Given the description of an element on the screen output the (x, y) to click on. 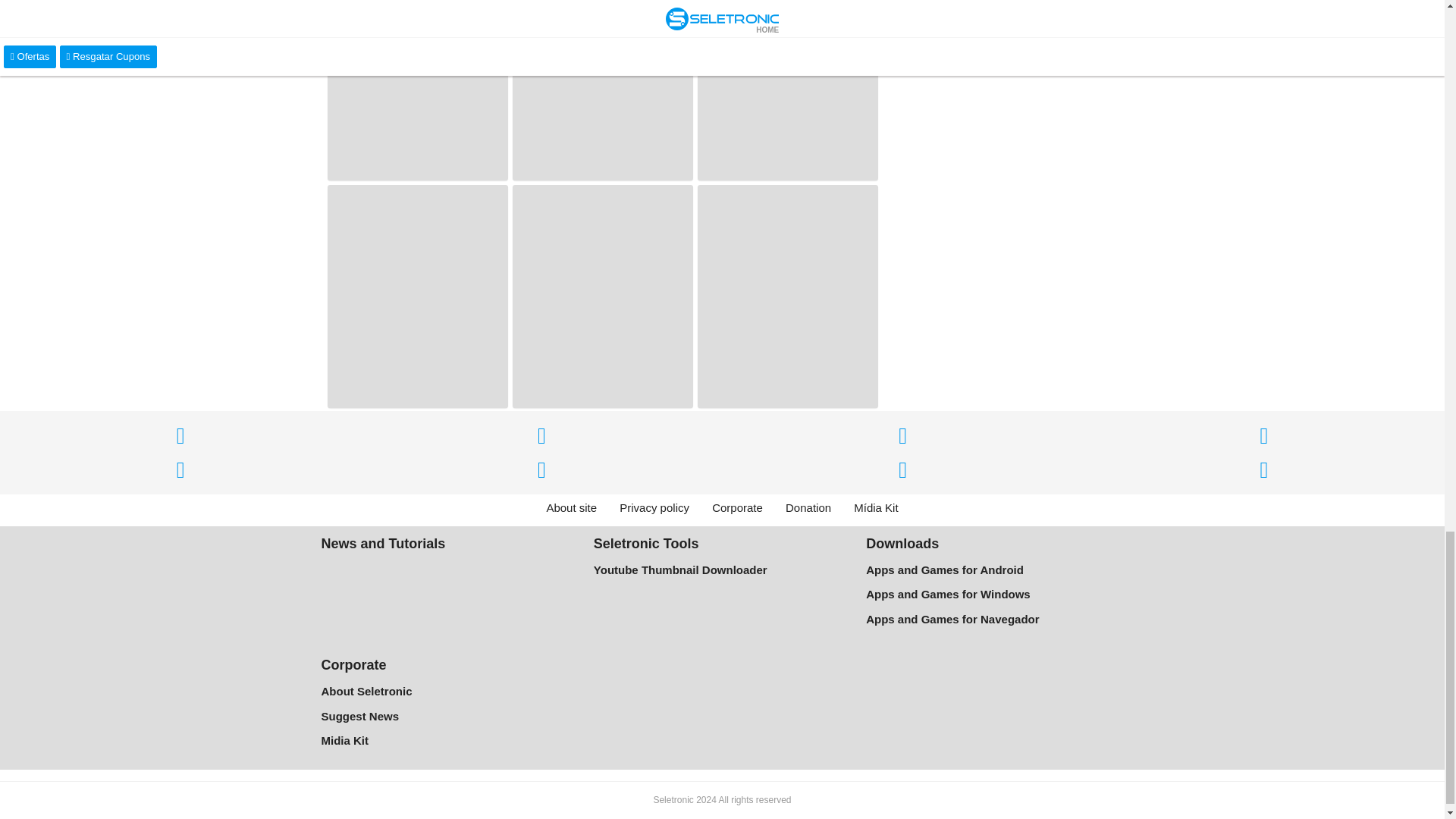
About site (571, 508)
Downloads (902, 543)
Youtube Thumbnail Downloader (722, 570)
Donation (808, 508)
Privacy policy (654, 508)
Corporate (737, 508)
News and Tutorials (383, 543)
Seletronic Tools (646, 543)
